Given the description of an element on the screen output the (x, y) to click on. 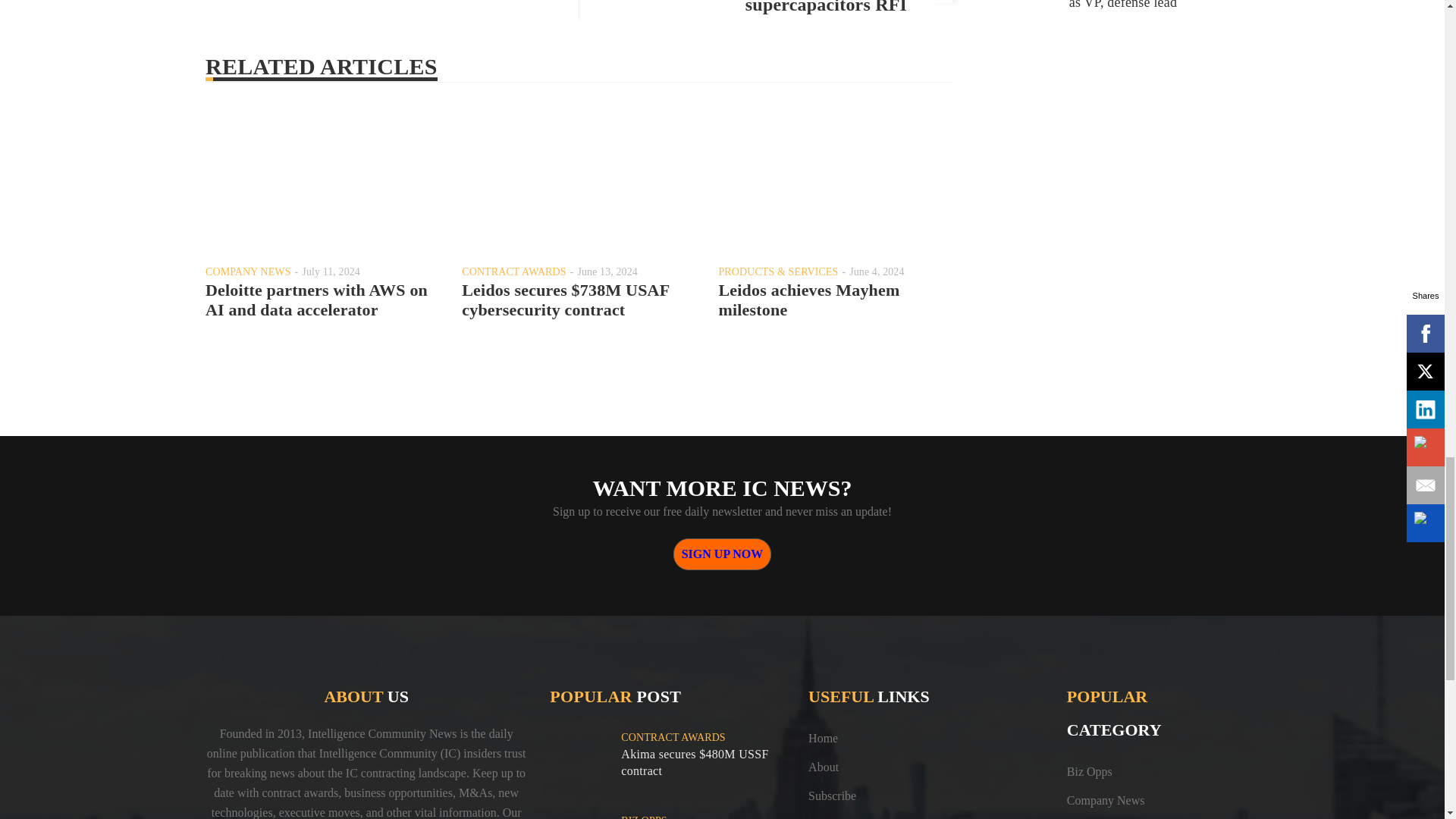
IARPA releases biomimetic supercapacitors RFI (799, 7)
Deloitte partners with AWS on AI and data accelerator (316, 299)
Leidos achieves Mayhem milestone (808, 299)
